Given the description of an element on the screen output the (x, y) to click on. 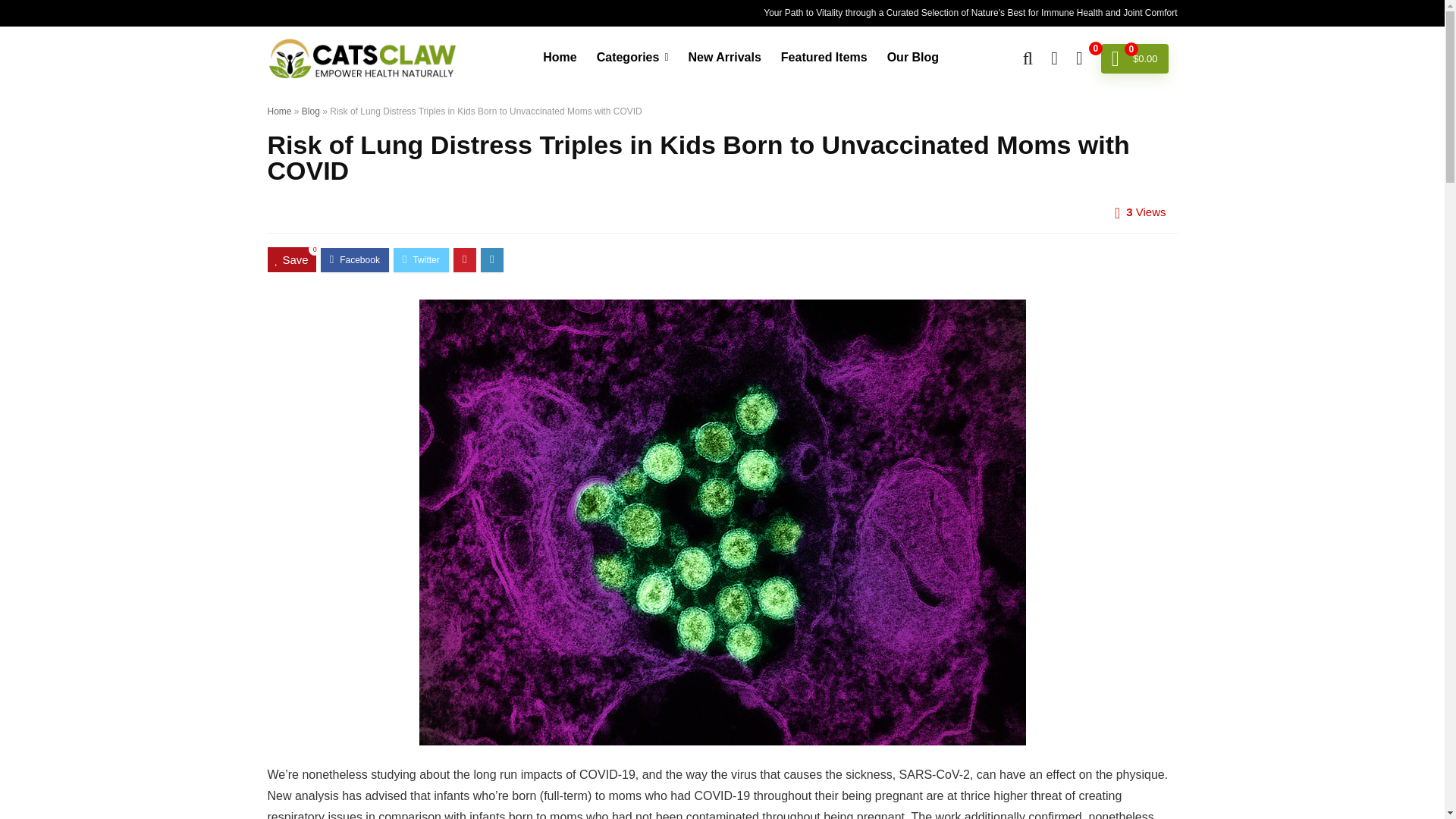
Categories (632, 58)
Home (559, 58)
Featured Items (824, 58)
Blog (310, 111)
New Arrivals (724, 58)
Home (278, 111)
Our Blog (913, 58)
